Given the description of an element on the screen output the (x, y) to click on. 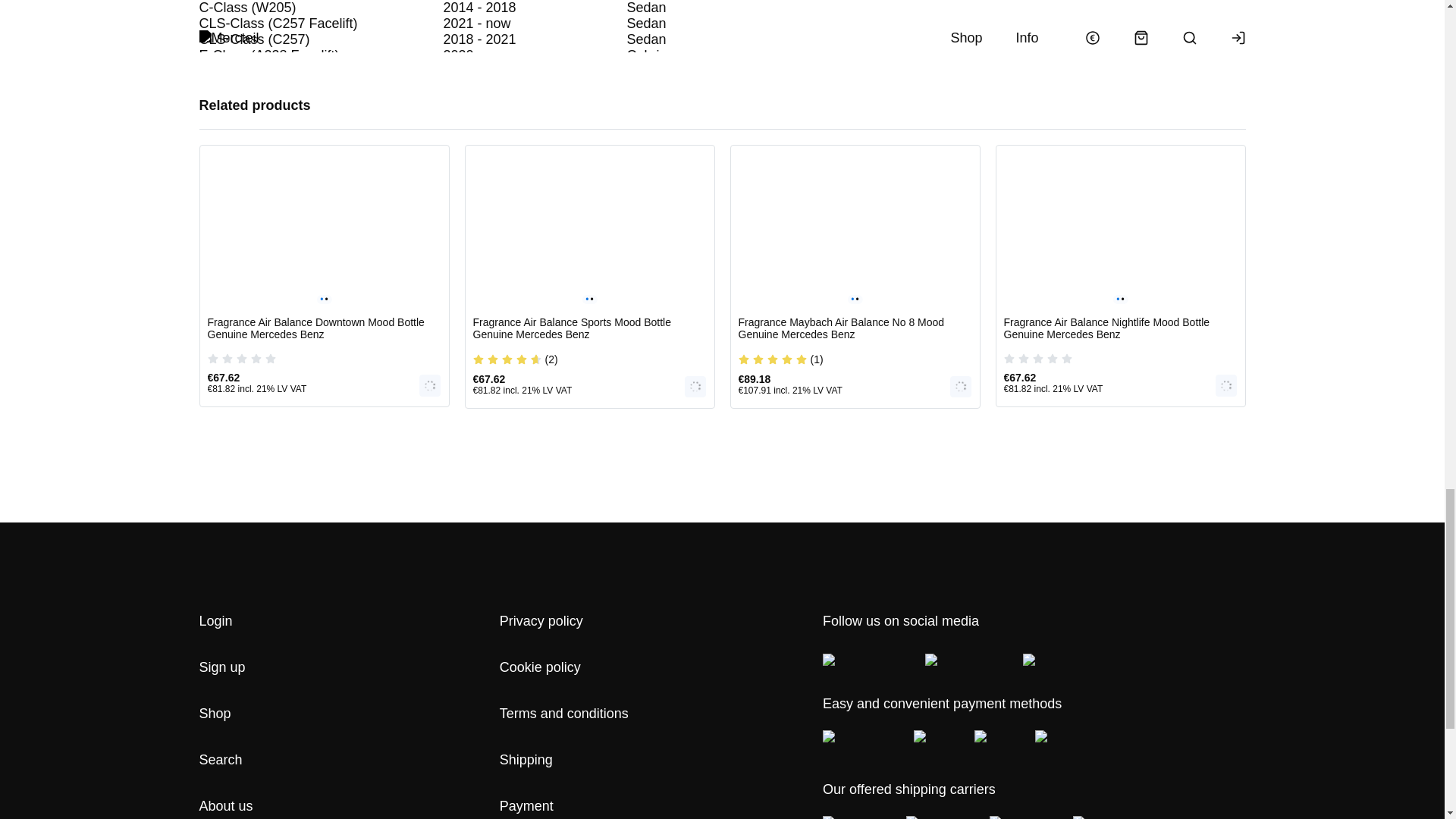
Shipping (526, 759)
About us (224, 806)
Terms and conditions (563, 713)
Payment (526, 806)
Cookie policy (539, 667)
Shop (214, 713)
Search (219, 759)
Privacy policy (541, 620)
Sign up (221, 667)
Login (214, 620)
